Given the description of an element on the screen output the (x, y) to click on. 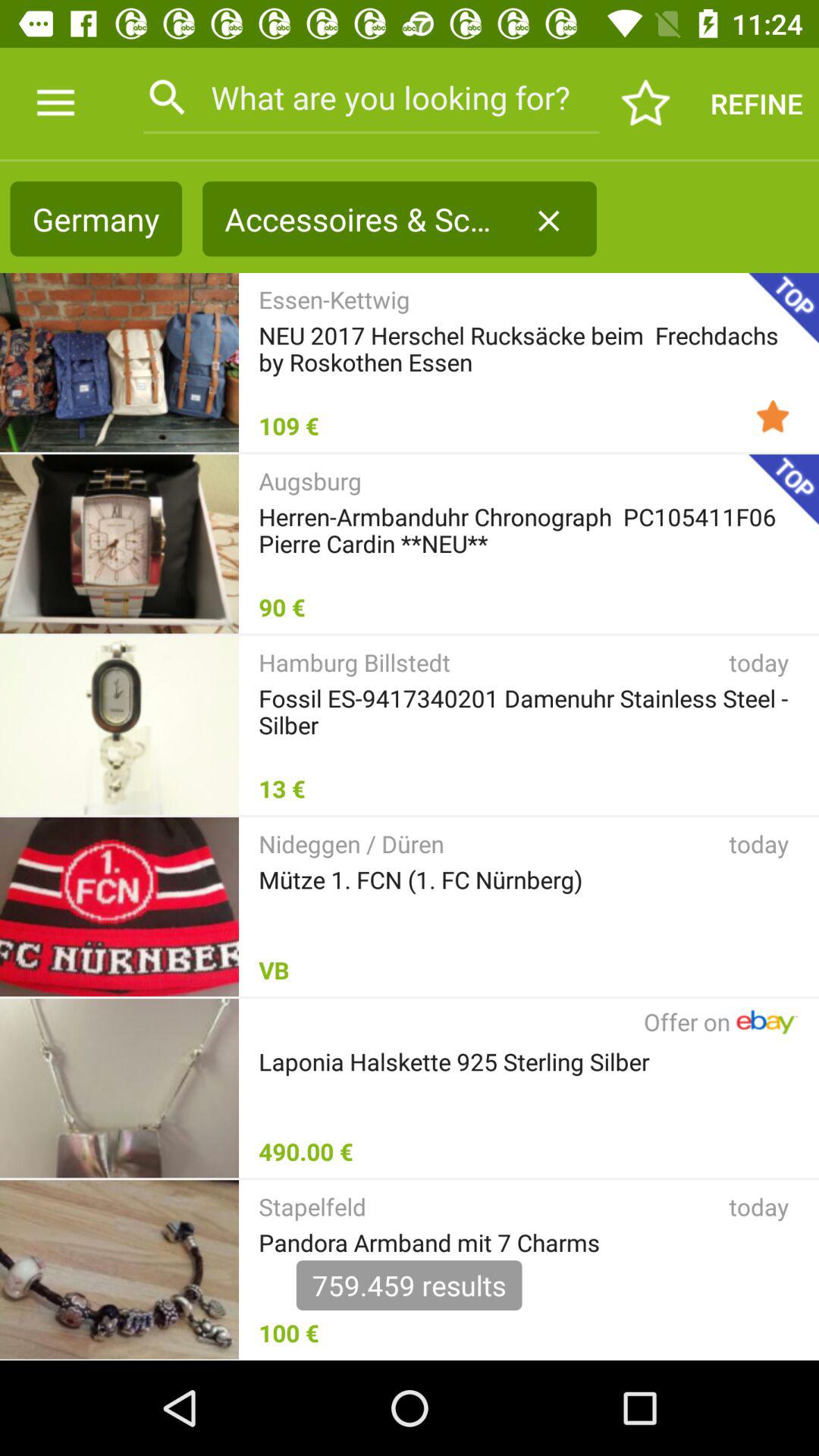
click item next to the what are you icon (646, 103)
